Given the description of an element on the screen output the (x, y) to click on. 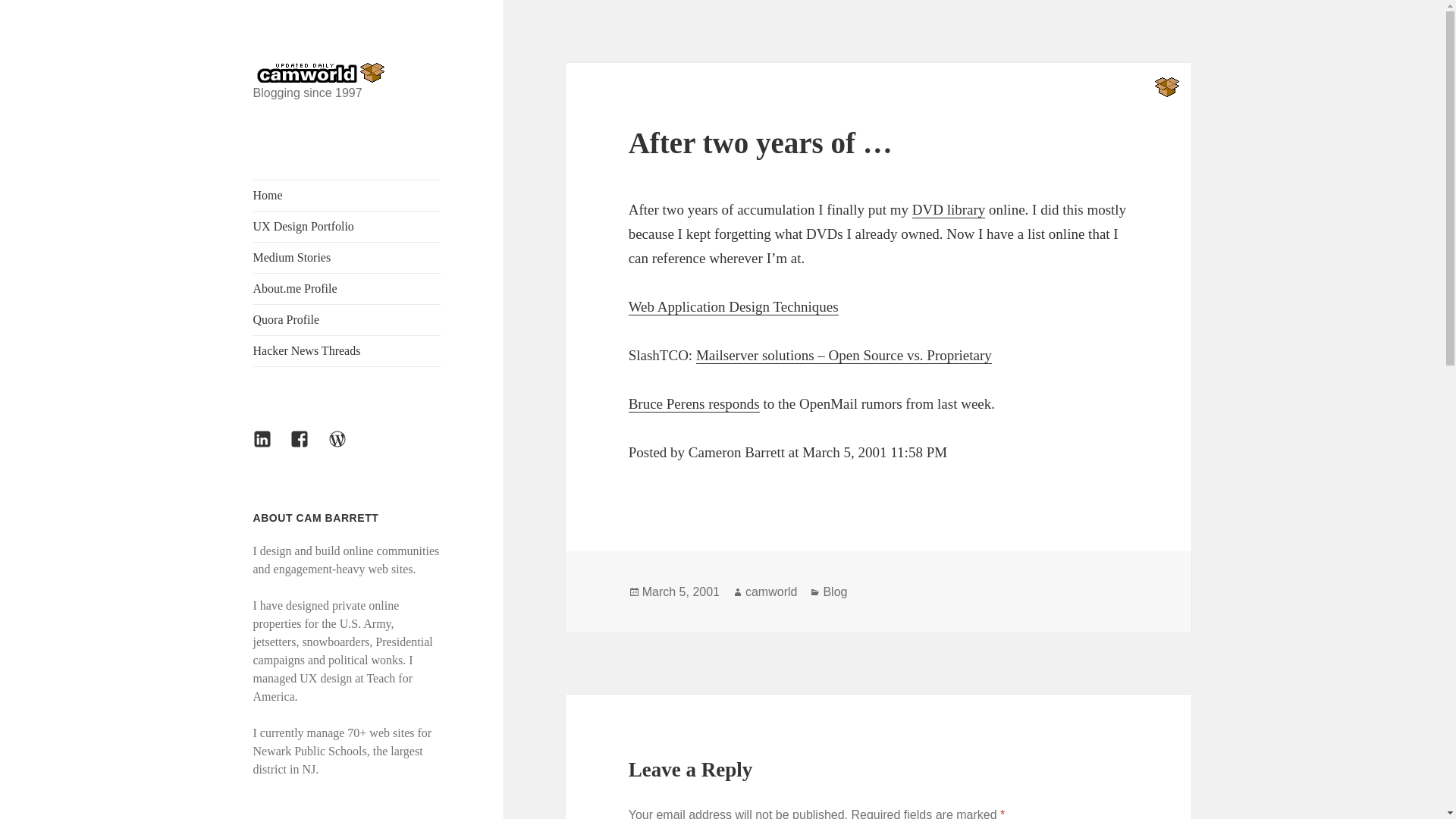
Hacker News Threads (347, 350)
Quora Profile (347, 319)
Medium Stories (347, 257)
camworld (770, 591)
Bruce Perens responds (694, 403)
Blog (834, 591)
WordPress.org Profile (347, 447)
March 5, 2001 (680, 591)
DVD library (948, 209)
Facebook Feed (307, 447)
